Given the description of an element on the screen output the (x, y) to click on. 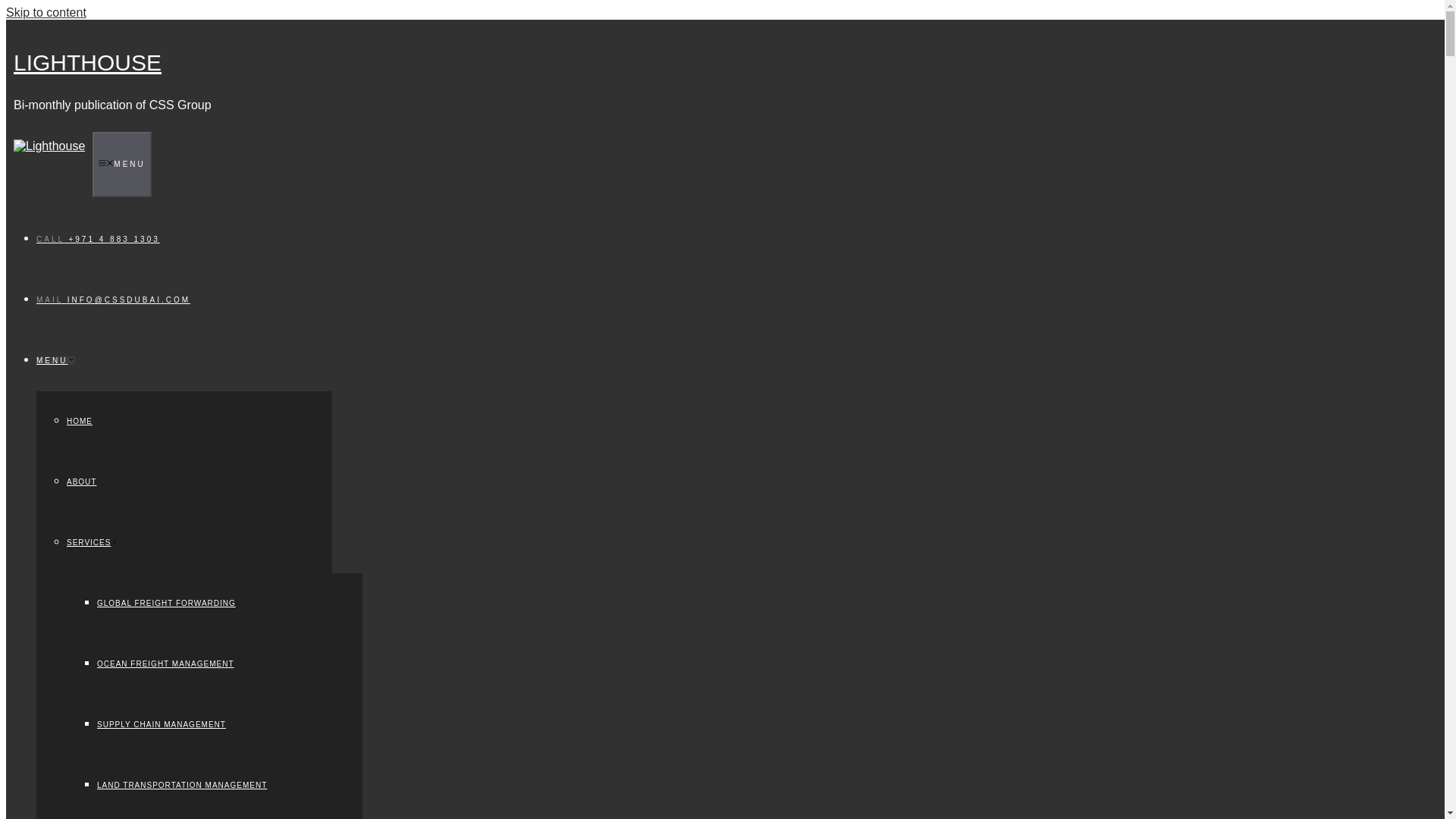
MENU (55, 360)
Lighthouse (55, 35)
HOME (79, 420)
MENU (122, 164)
Skip to content (45, 11)
GLOBAL FREIGHT FORWARDING (166, 602)
Lighthouse (48, 145)
Lighthouse (48, 146)
SUPPLY CHAIN MANAGEMENT (161, 724)
SERVICES (91, 542)
